Given the description of an element on the screen output the (x, y) to click on. 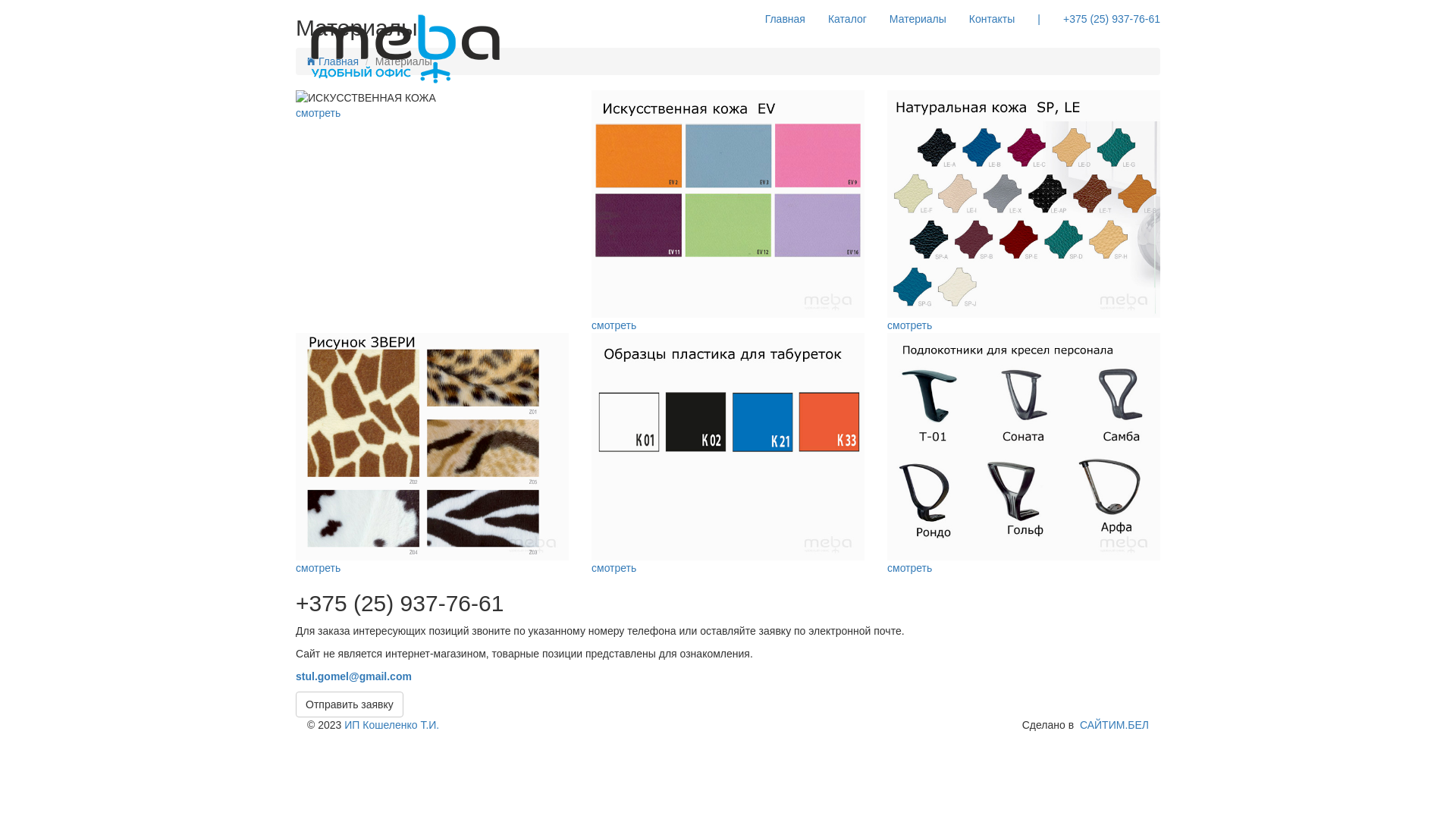
| Element type: text (1038, 18)
stul.gomel@gmail.com Element type: text (353, 676)
+375 (25) 937-76-61 Element type: text (1111, 18)
